Given the description of an element on the screen output the (x, y) to click on. 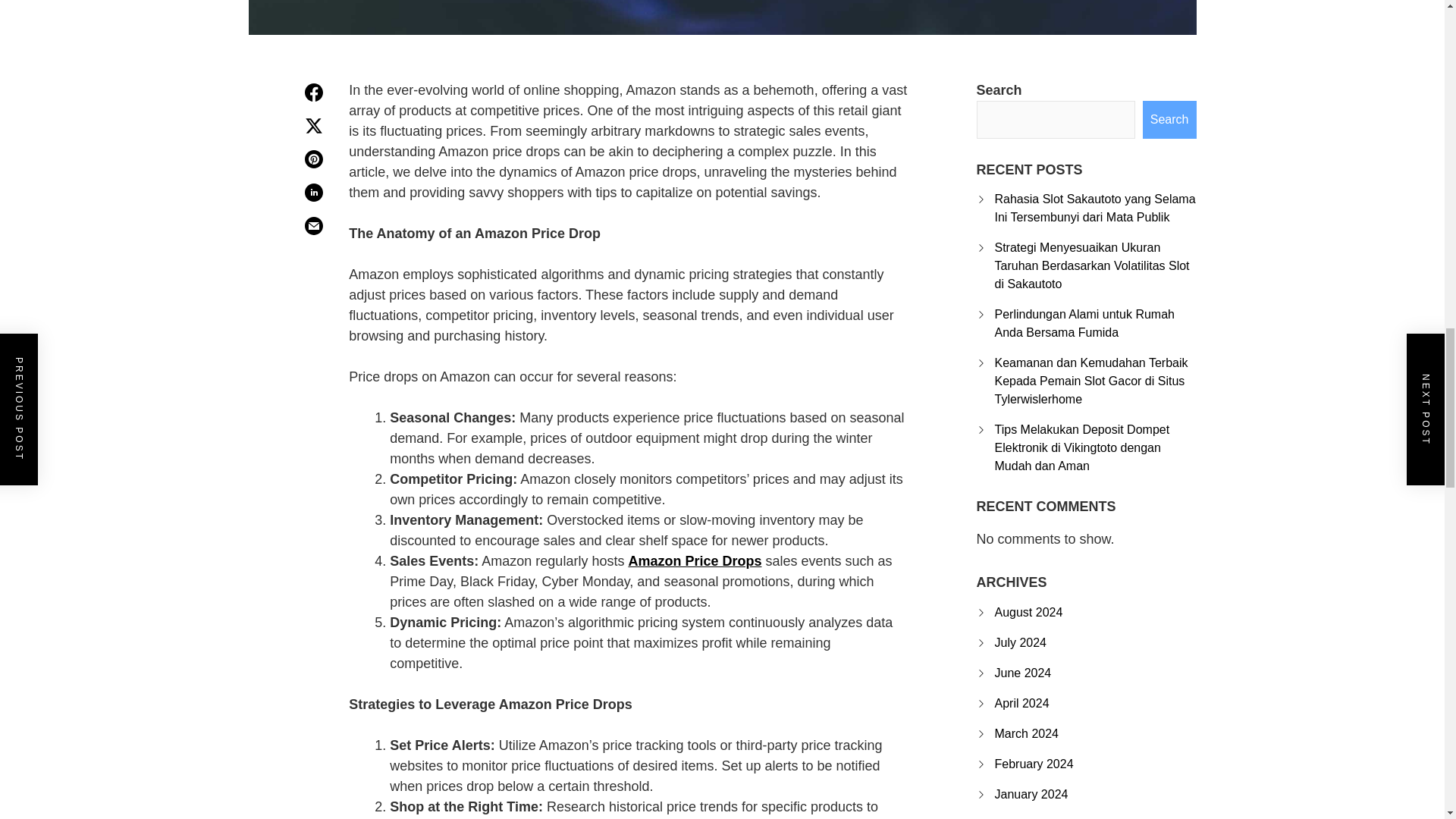
July 2024 (1020, 642)
Perlindungan Alami untuk Rumah Anda Bersama Fumida (1084, 323)
Amazon Price Drops (694, 560)
Search (1169, 119)
August 2024 (1028, 612)
